Given the description of an element on the screen output the (x, y) to click on. 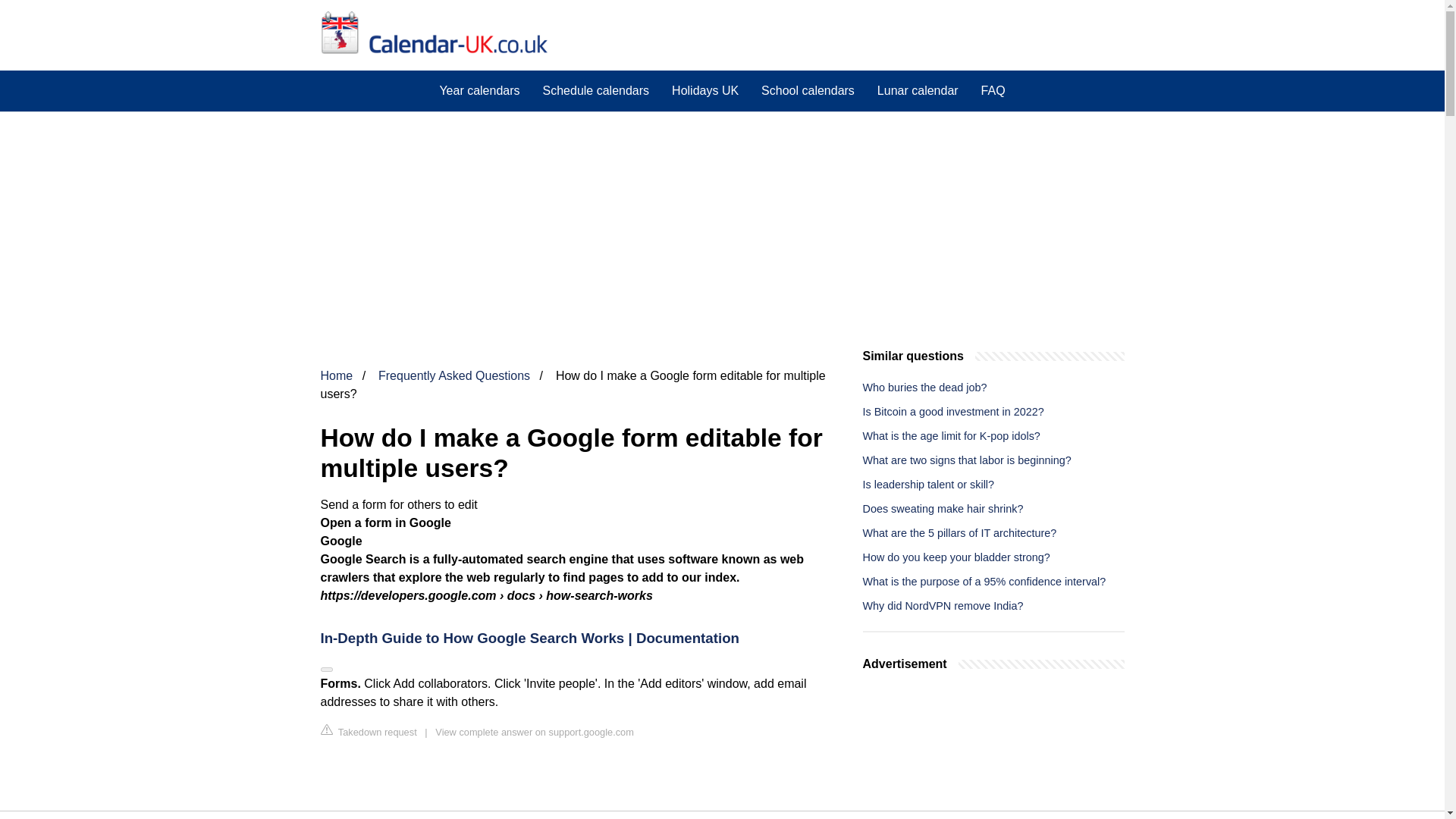
Frequently Asked Questions (453, 375)
Takedown request (368, 731)
Holidays UK (705, 90)
Schedule calendars (596, 90)
Lunar calendar (917, 90)
School calendars (807, 90)
View complete answer on support.google.com (534, 731)
FAQ (992, 90)
Home (336, 375)
Year calendars (479, 90)
